Given the description of an element on the screen output the (x, y) to click on. 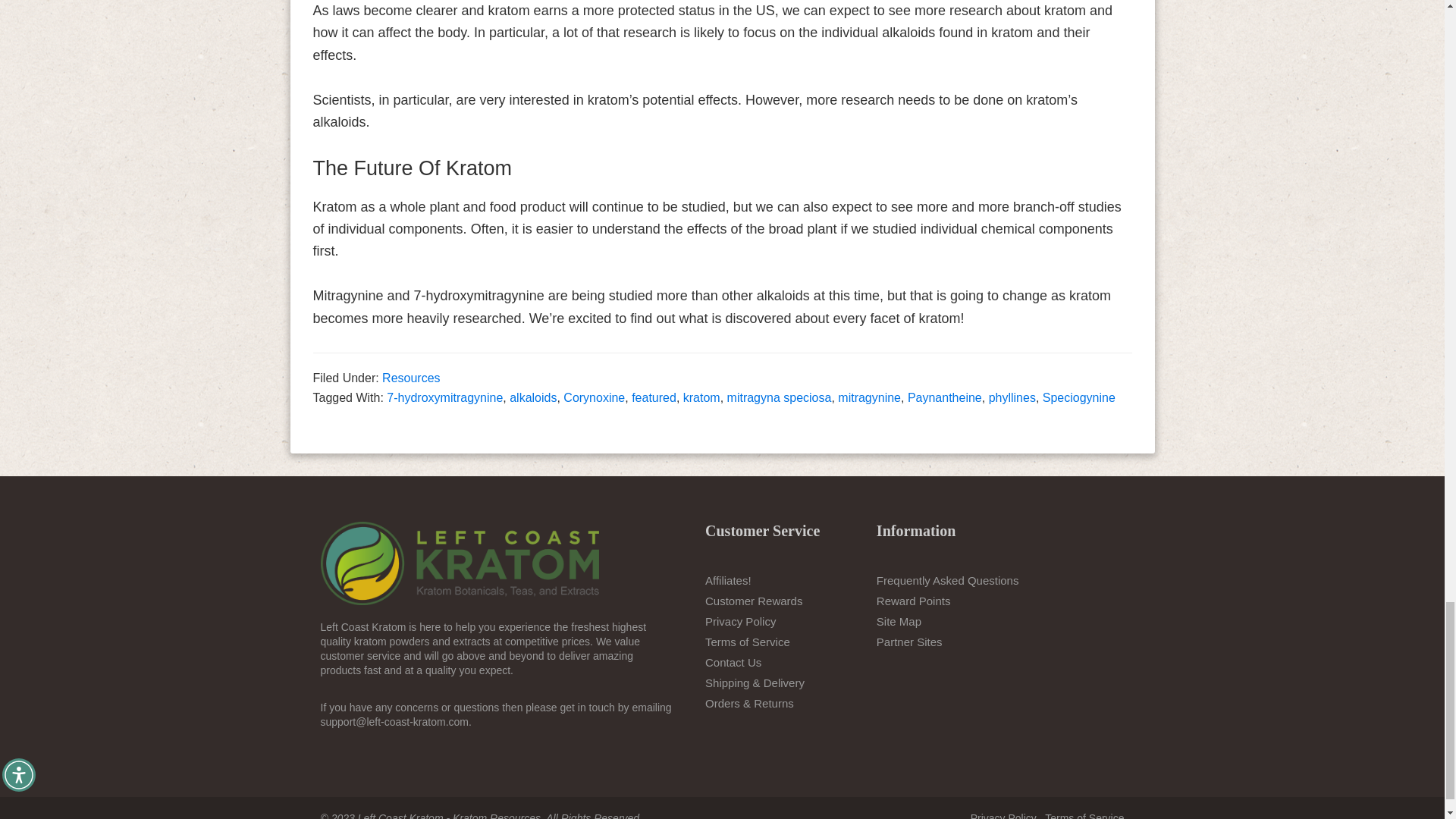
Left Coast Kratom (459, 563)
mitragynine (869, 397)
Frequently Asked Questions (947, 580)
Affiliates! (727, 580)
Privacy Policy (1003, 815)
Customer Rewards (753, 600)
Terms of Service (747, 641)
alkaloids (532, 397)
FAQ (947, 580)
Privacy Policy (740, 621)
Privacy Policy (740, 621)
Resources (410, 377)
Site Map (898, 621)
Terms of Service (747, 641)
Reward Points (913, 600)
